Given the description of an element on the screen output the (x, y) to click on. 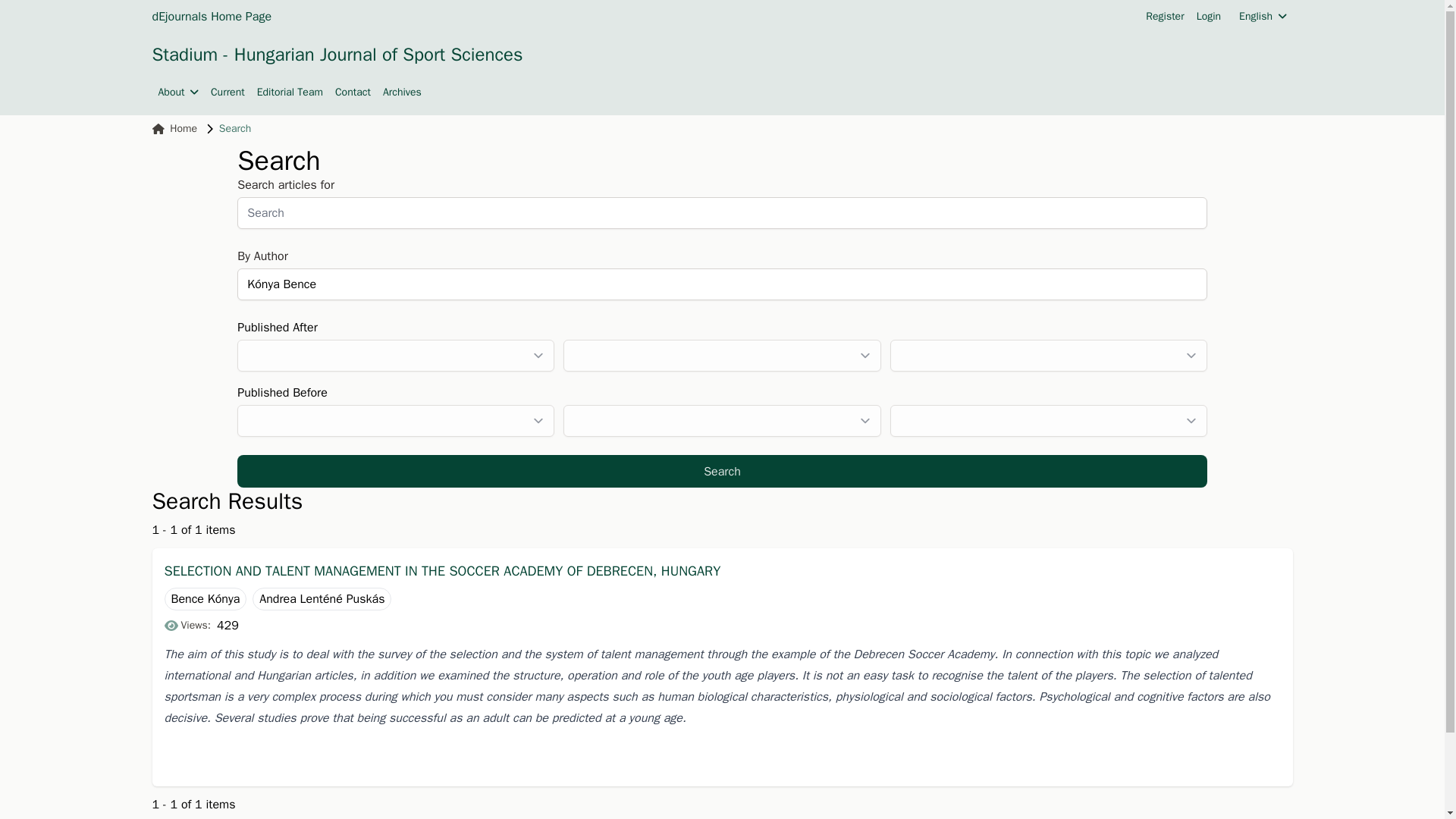
Archives (402, 92)
Editorial Team (290, 92)
Contact (352, 92)
Register (1164, 16)
Stadium - Hungarian Journal of Sport Sciences (336, 54)
Current (227, 92)
Home (173, 128)
Login (1208, 16)
About (177, 92)
English (1262, 16)
dEjournals Home Page (210, 16)
